Given the description of an element on the screen output the (x, y) to click on. 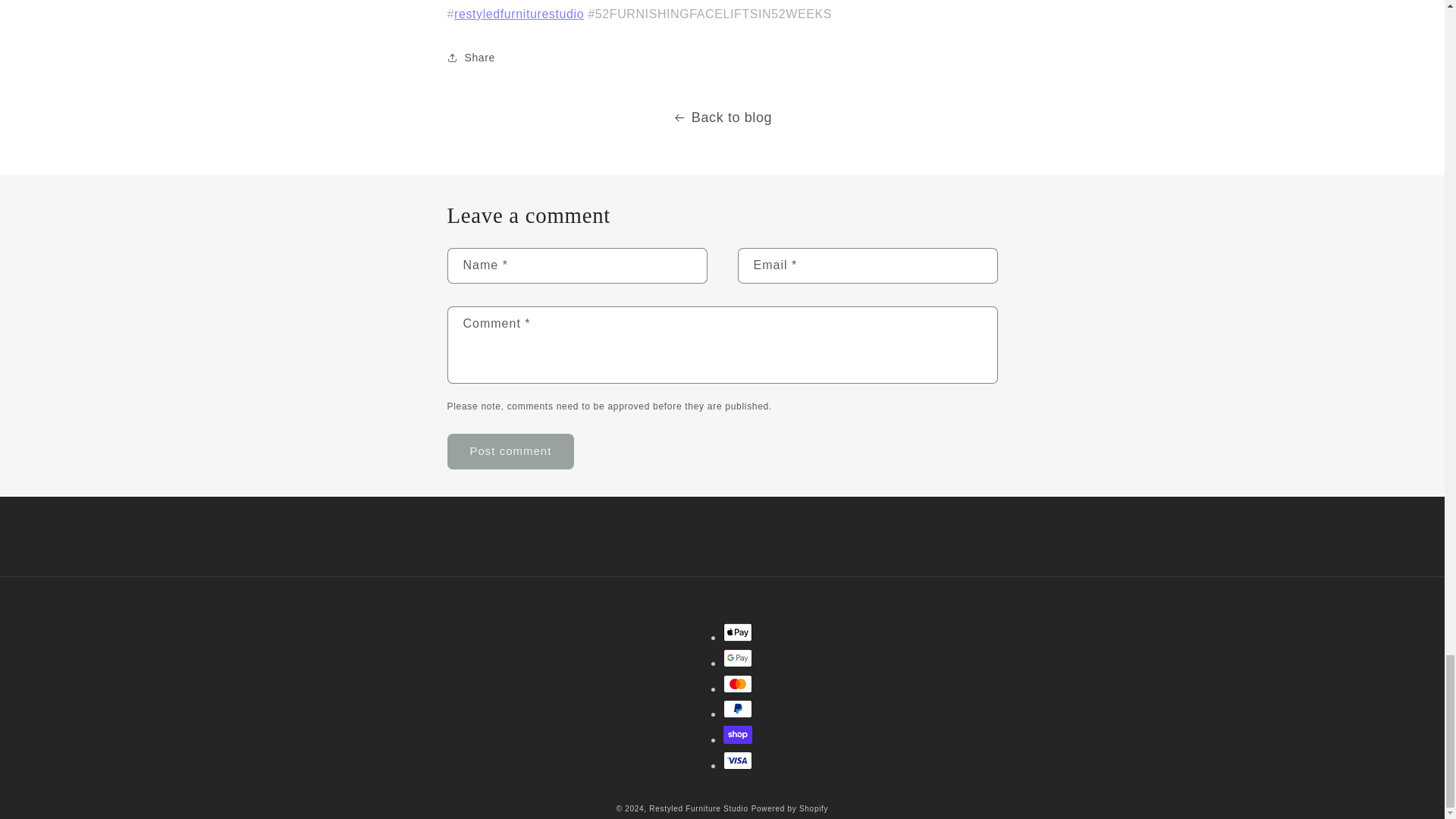
Mastercard (737, 683)
Google Pay (737, 658)
PayPal (737, 709)
Shop Pay (737, 734)
Post comment (510, 451)
Visa (737, 760)
Apple Pay (737, 632)
